Given the description of an element on the screen output the (x, y) to click on. 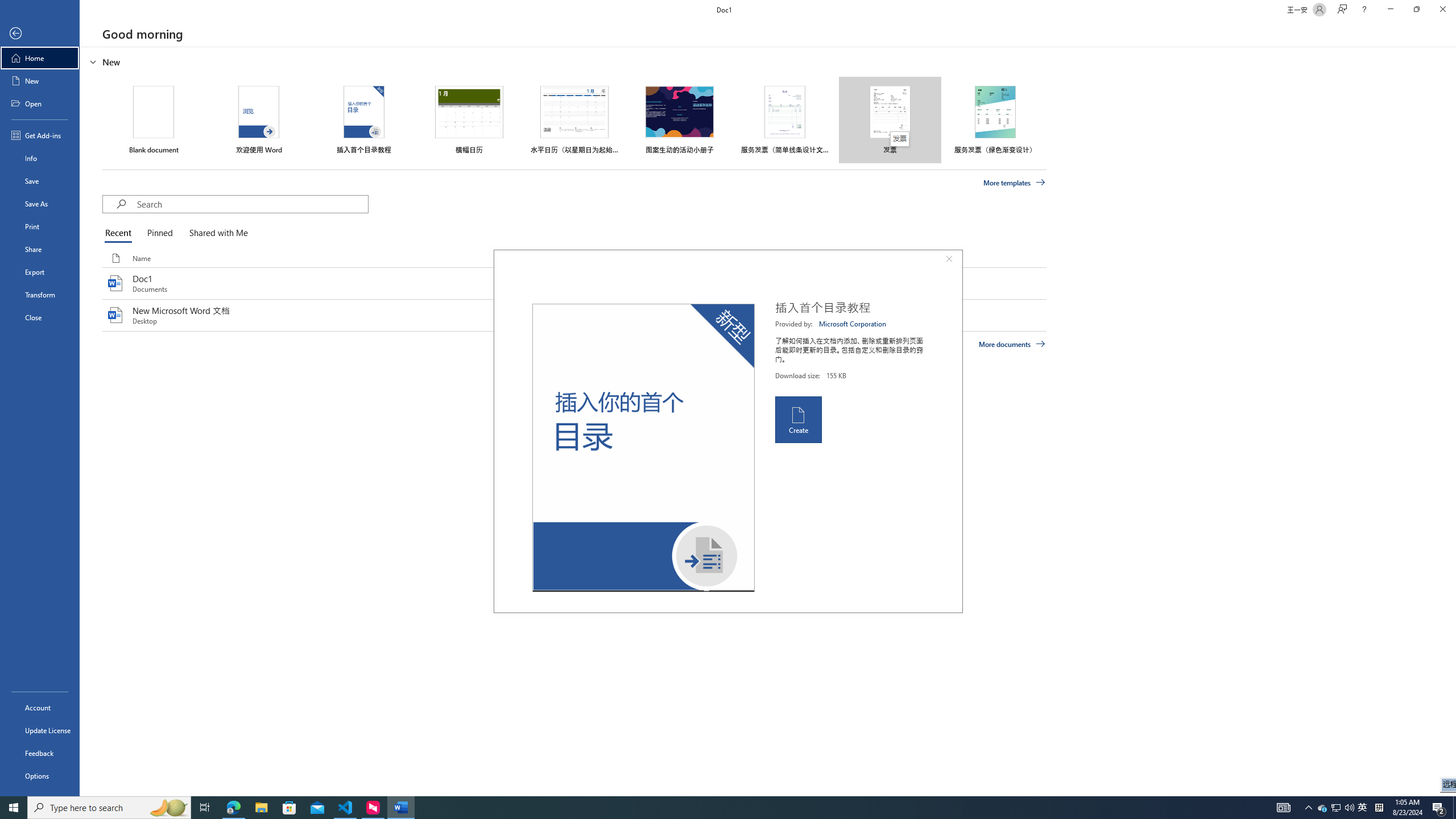
Transform (40, 294)
